Given the description of an element on the screen output the (x, y) to click on. 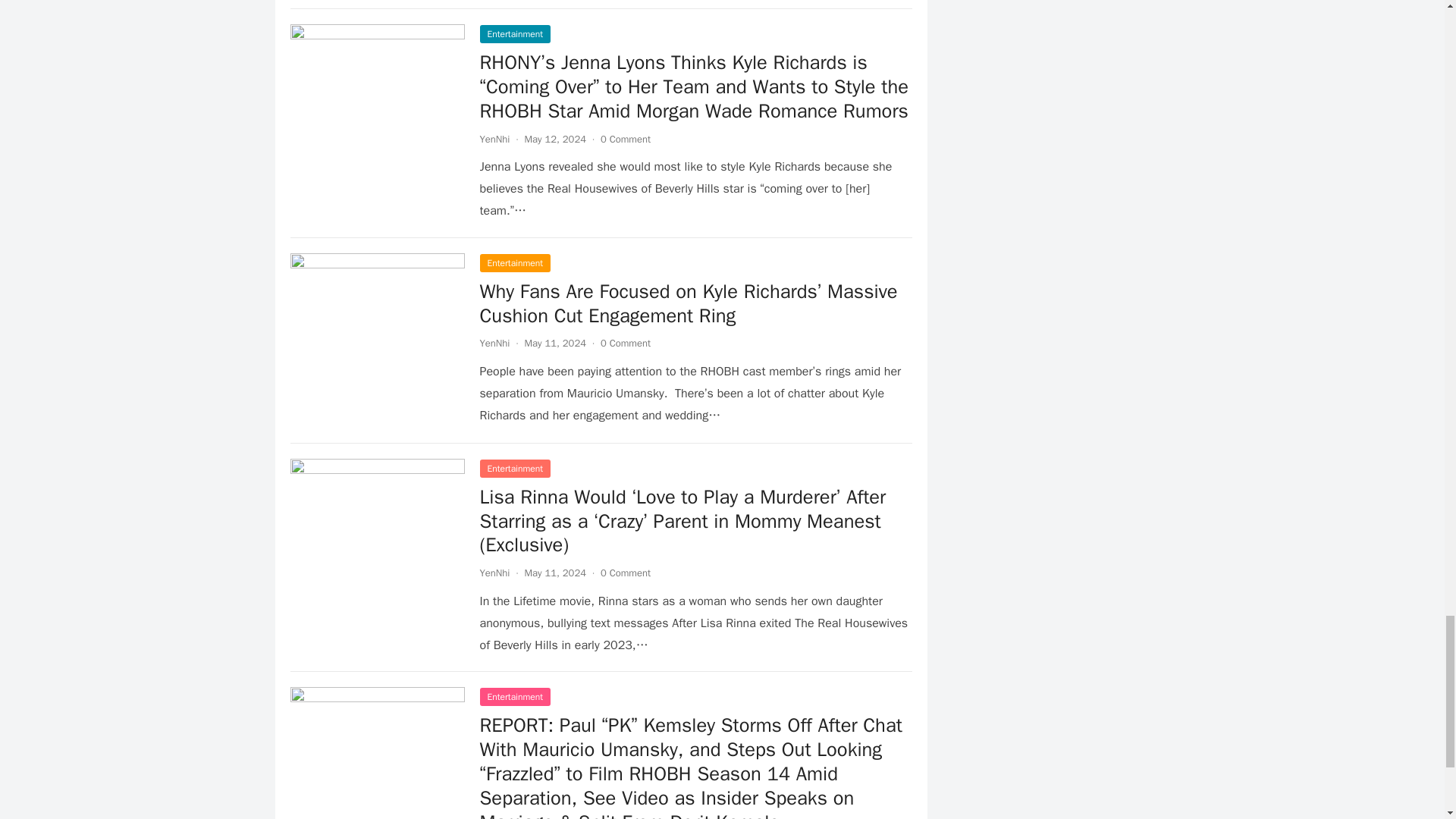
Entertainment (514, 262)
Posts by YenNhi (494, 572)
0 Comment (624, 138)
0 Comment (624, 342)
Entertainment (514, 34)
Posts by YenNhi (494, 138)
YenNhi (494, 138)
YenNhi (494, 342)
Posts by YenNhi (494, 342)
